Given the description of an element on the screen output the (x, y) to click on. 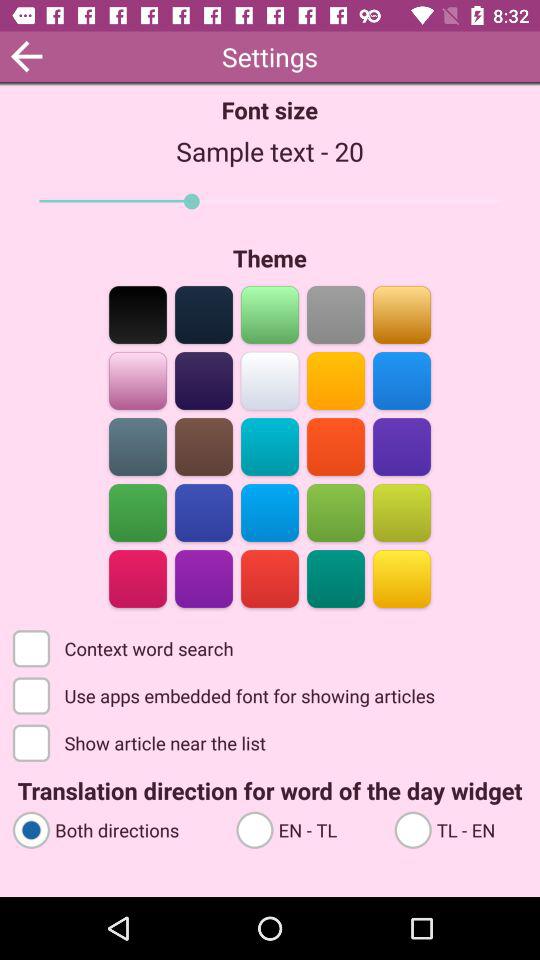
jump to use apps embedded item (225, 694)
